Given the description of an element on the screen output the (x, y) to click on. 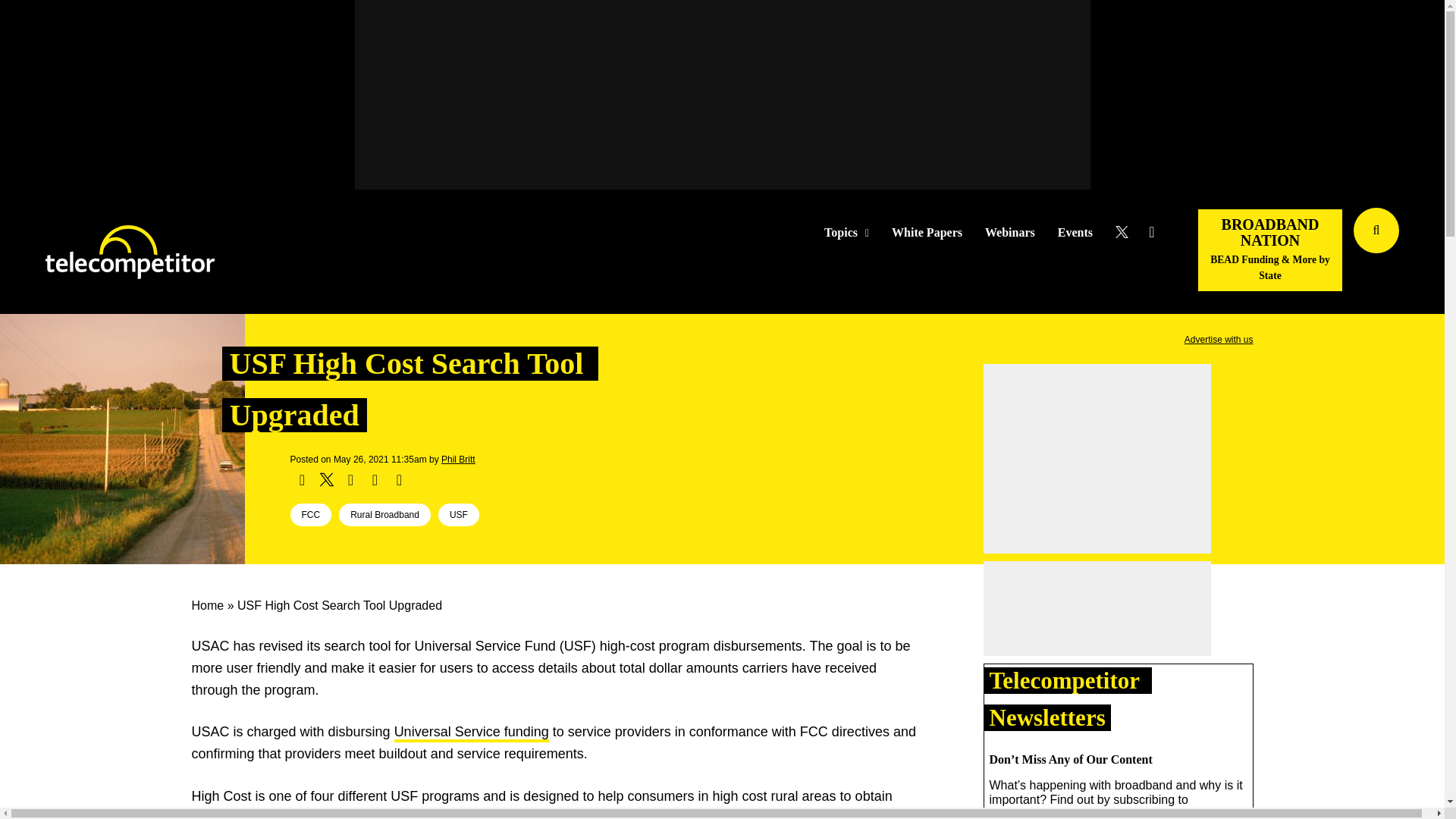
Events (1074, 232)
Spread the word on Twitter (325, 479)
Search telecompetitor.com (1376, 230)
White Papers (927, 232)
Follow Us on LinkedIN (1151, 232)
Share on Linked In (349, 479)
Pinterest (374, 479)
Topics (846, 232)
Follow Us on Twitter (1127, 232)
Search (1430, 253)
